Given the description of an element on the screen output the (x, y) to click on. 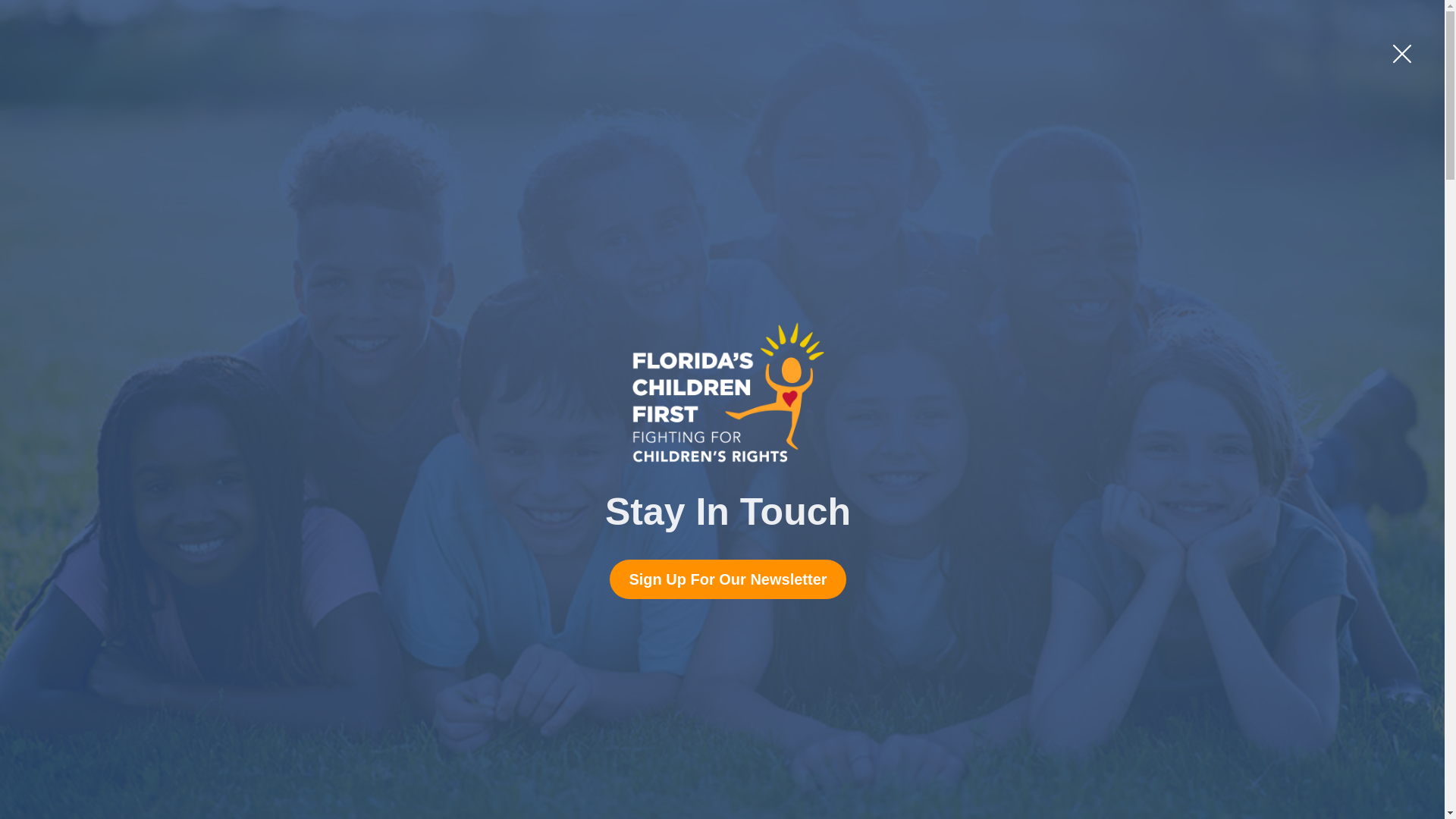
Support (668, 93)
Accessibility Tools (1424, 170)
Home (280, 93)
About (353, 93)
Florida Youth SHINE (790, 93)
What We Do (568, 93)
